Given the description of an element on the screen output the (x, y) to click on. 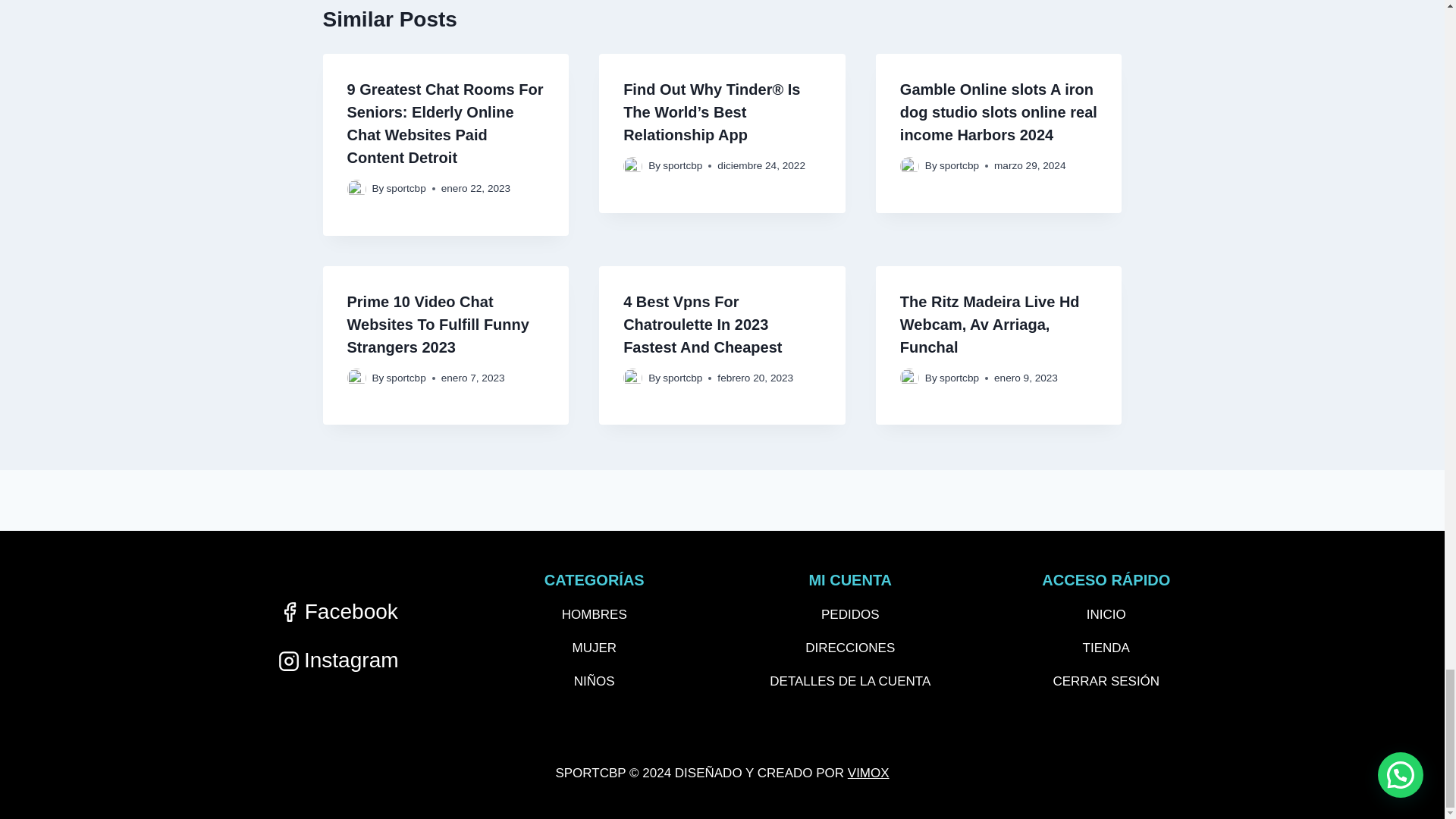
sportcbp (406, 188)
